Given the description of an element on the screen output the (x, y) to click on. 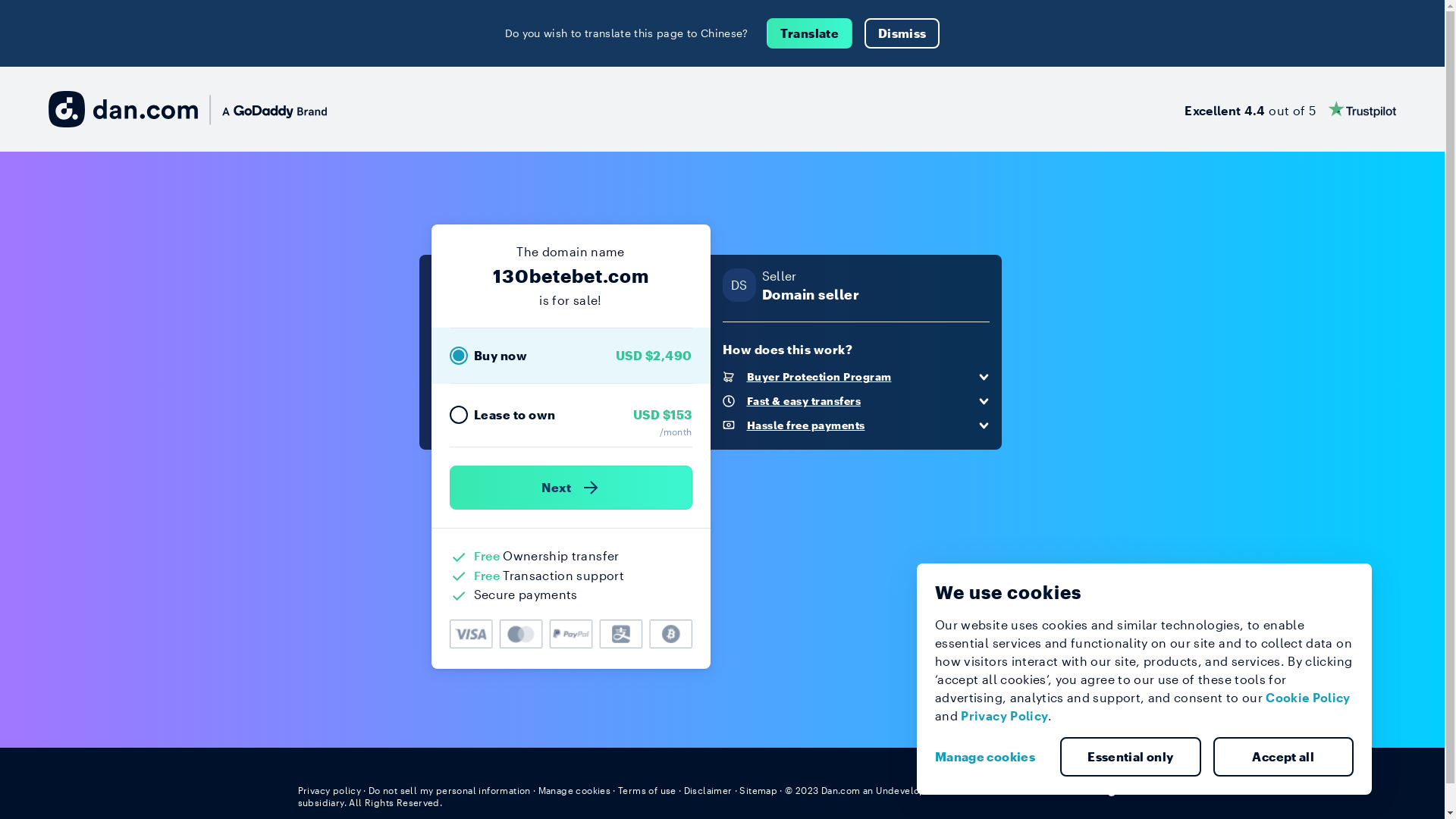
Manage cookies Element type: text (991, 756)
Manage cookies Element type: text (574, 790)
Dismiss Element type: text (901, 33)
Essential only Element type: text (1130, 756)
Next
) Element type: text (569, 487)
Excellent 4.4 out of 5 Element type: text (1290, 109)
Cookie Policy Element type: text (1307, 697)
Disclaimer Element type: text (708, 789)
Translate Element type: text (809, 33)
Do not sell my personal information Element type: text (449, 789)
Privacy policy Element type: text (328, 789)
Accept all Element type: text (1283, 756)
English Element type: text (1119, 789)
Terms of use Element type: text (647, 789)
Privacy Policy Element type: text (1004, 715)
Sitemap Element type: text (758, 789)
